Given the description of an element on the screen output the (x, y) to click on. 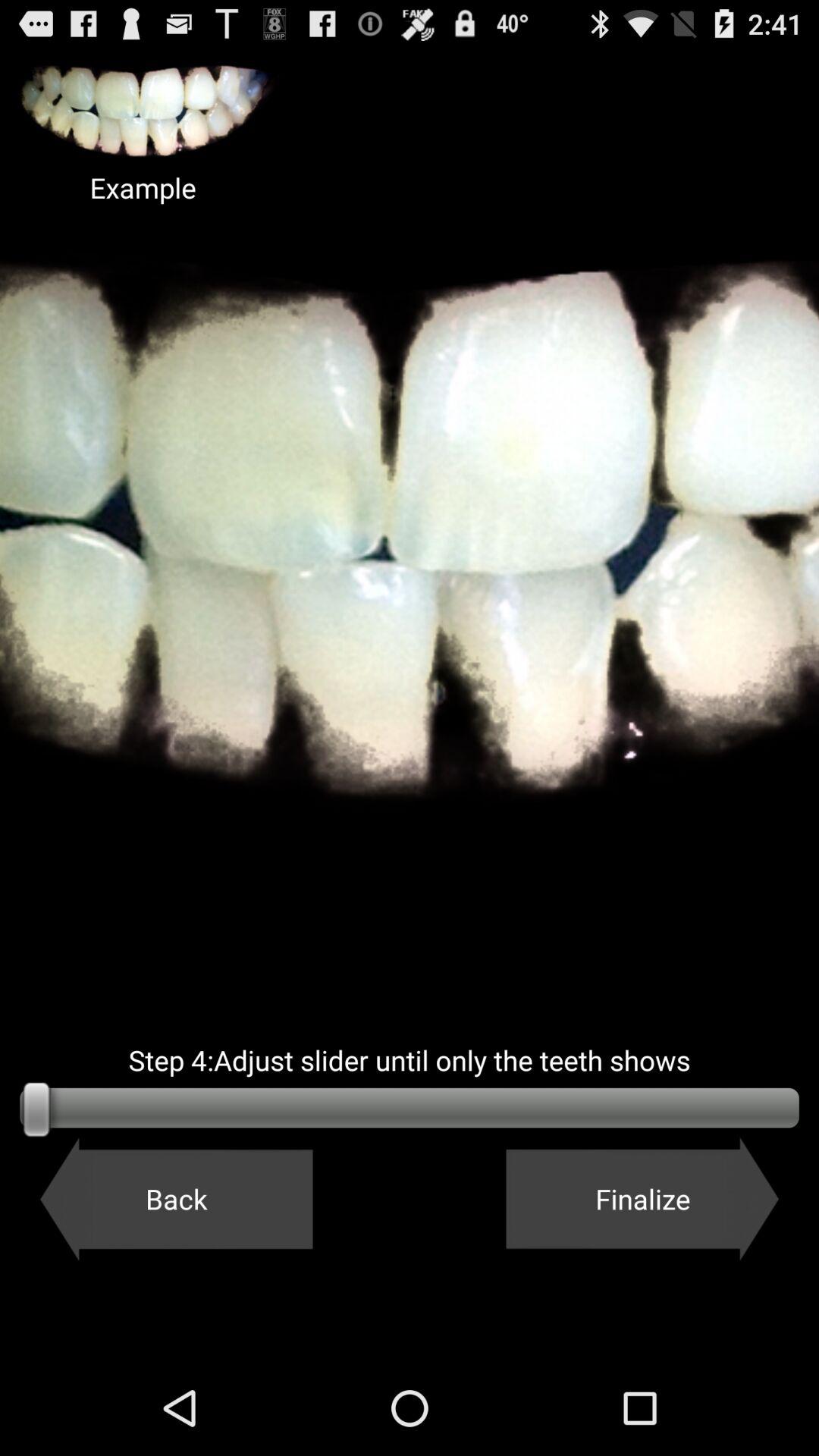
swipe to finalize button (642, 1198)
